Given the description of an element on the screen output the (x, y) to click on. 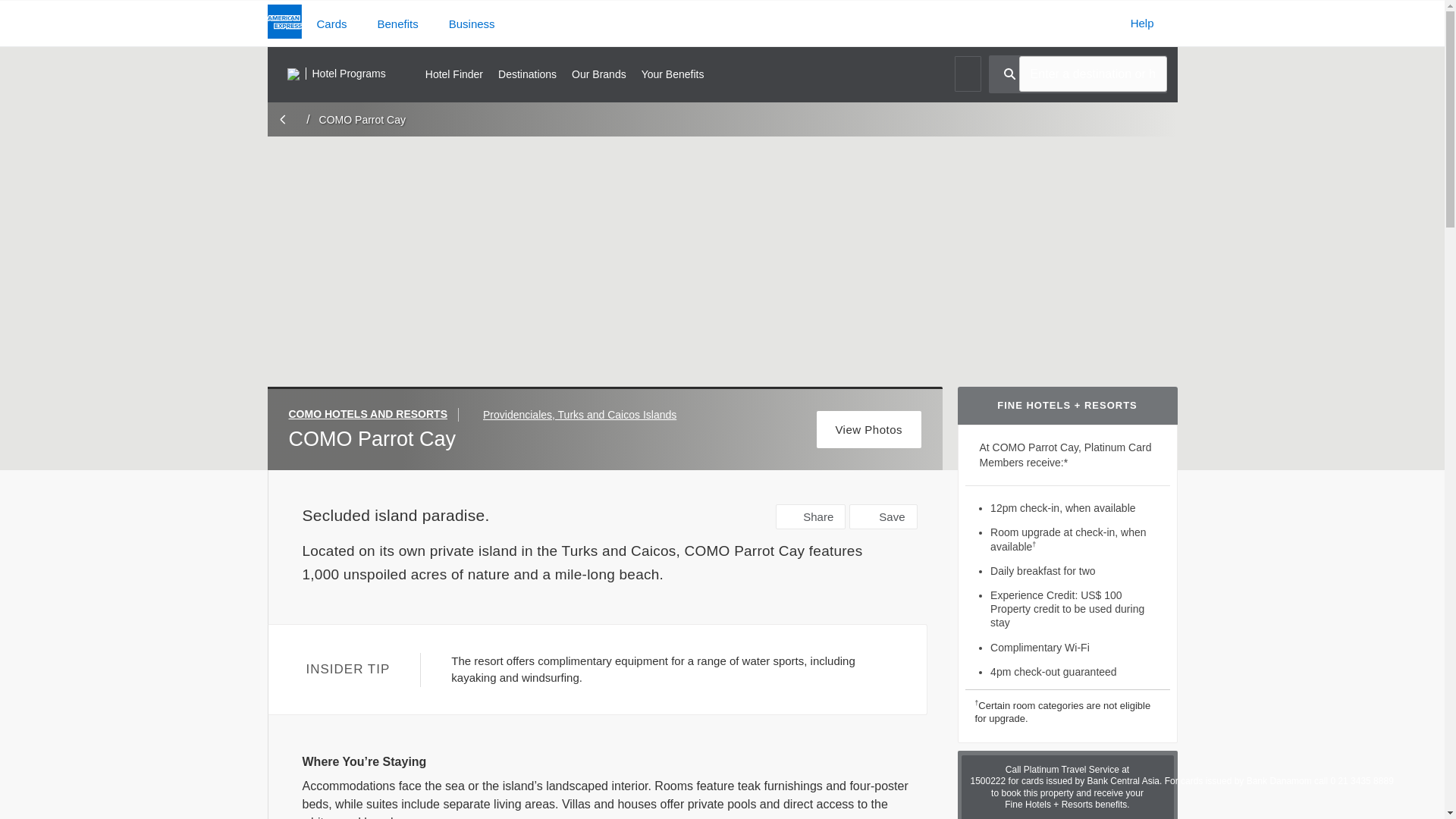
Hotel Finder (454, 73)
Destinations (526, 73)
Hotel Programs (335, 73)
Our Brands (599, 73)
Help (1142, 23)
